Given the description of an element on the screen output the (x, y) to click on. 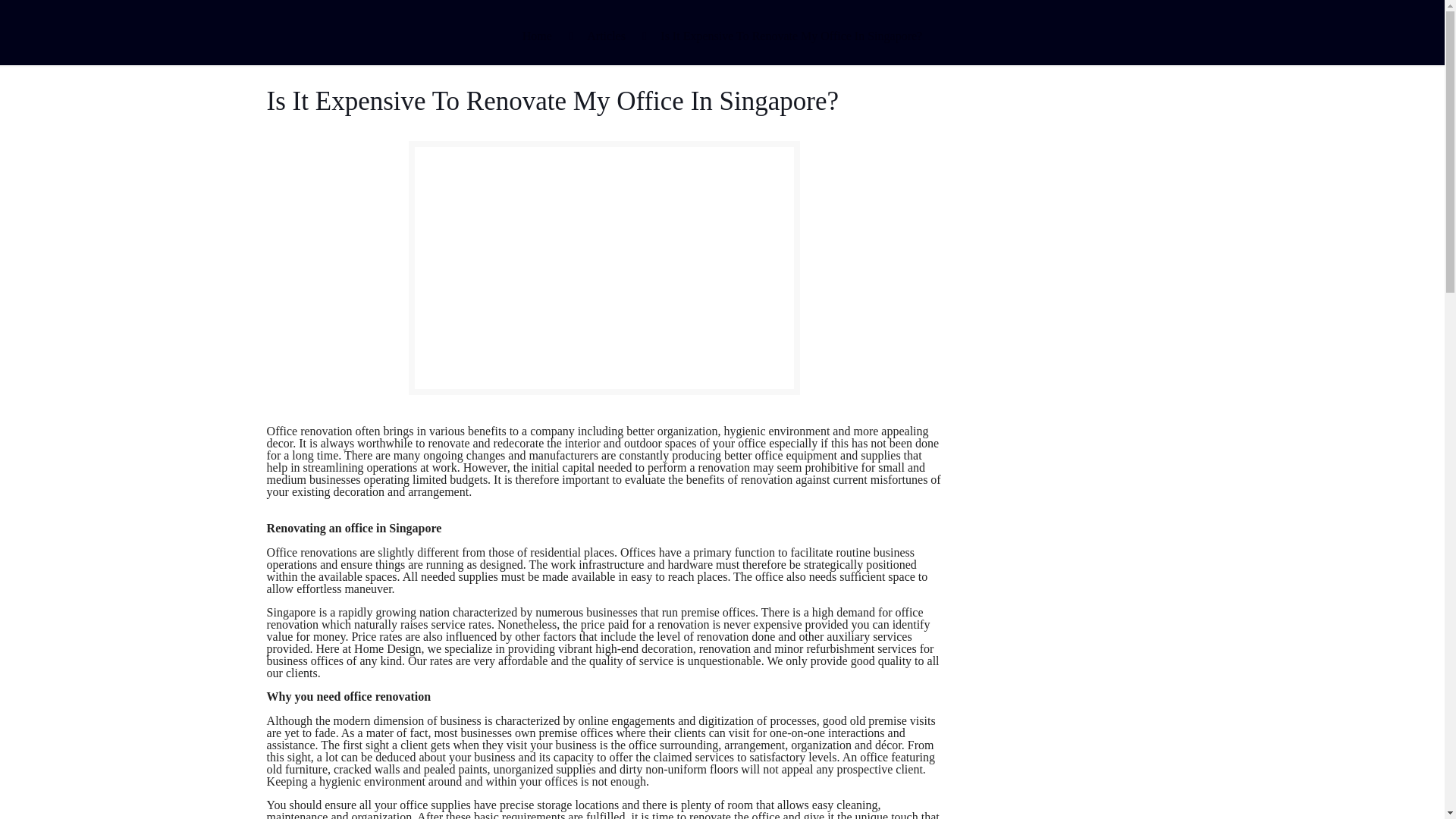
Articles (606, 35)
Home (536, 35)
Is It Expensive To Renovate My Office In Singapore? (791, 35)
